Given the description of an element on the screen output the (x, y) to click on. 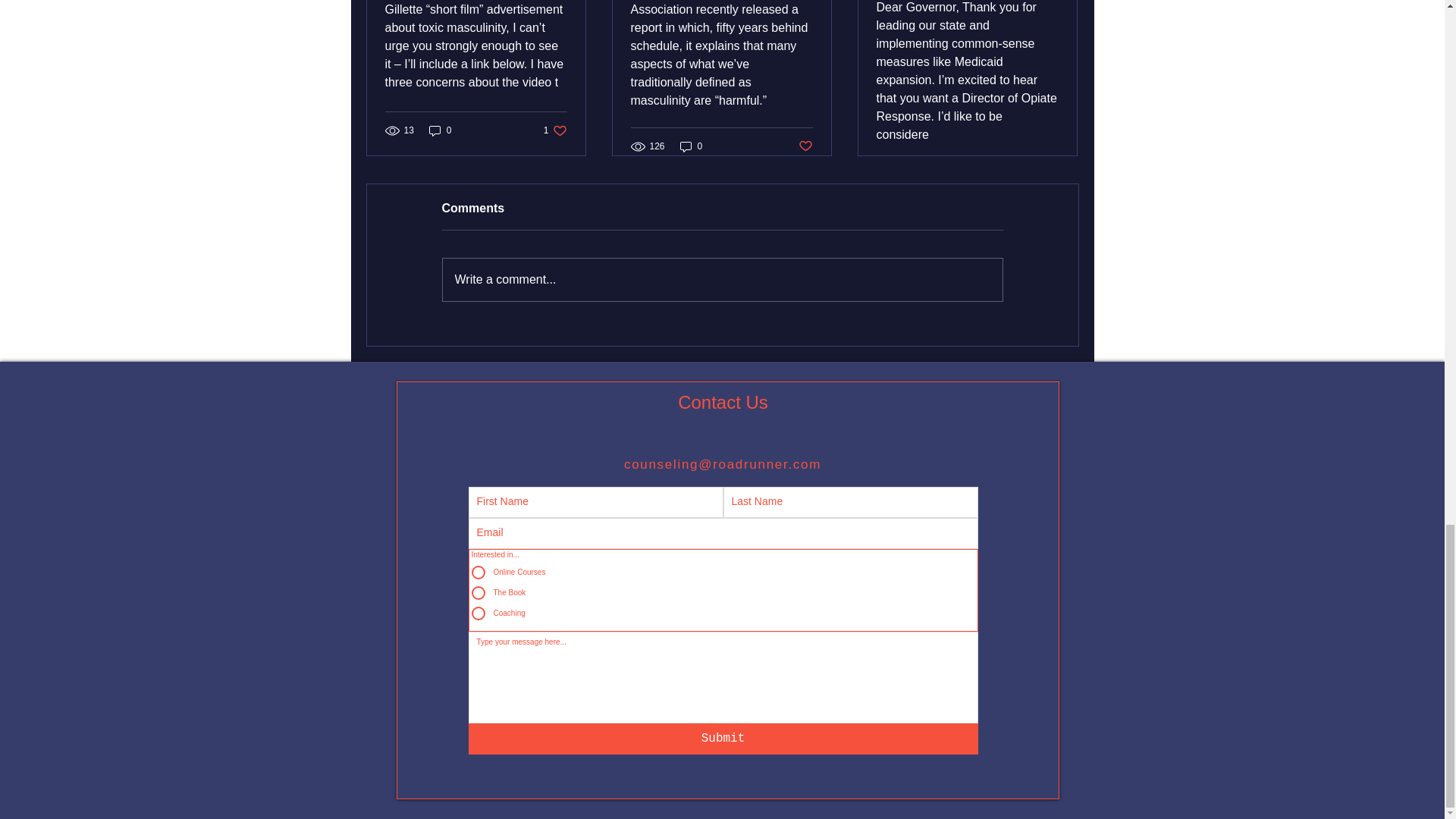
0 (440, 130)
